Given the description of an element on the screen output the (x, y) to click on. 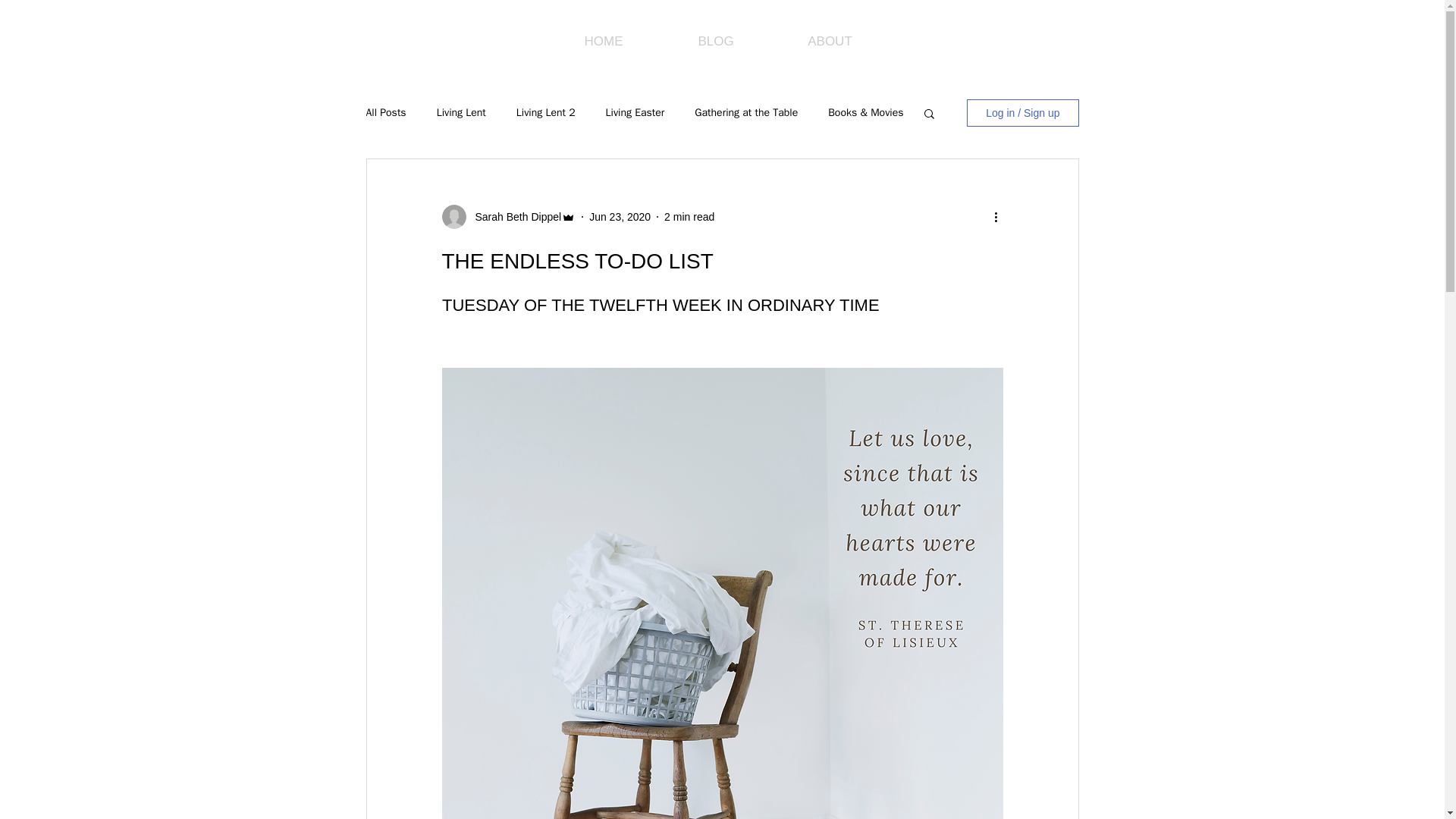
Gathering at the Table (745, 112)
Living Lent (461, 112)
BLOG (716, 40)
2 min read (688, 216)
All Posts (385, 112)
Living Lent 2 (545, 112)
HOME (603, 40)
ABOUT (829, 40)
Sarah Beth Dippel (512, 217)
Jun 23, 2020 (619, 216)
